Given the description of an element on the screen output the (x, y) to click on. 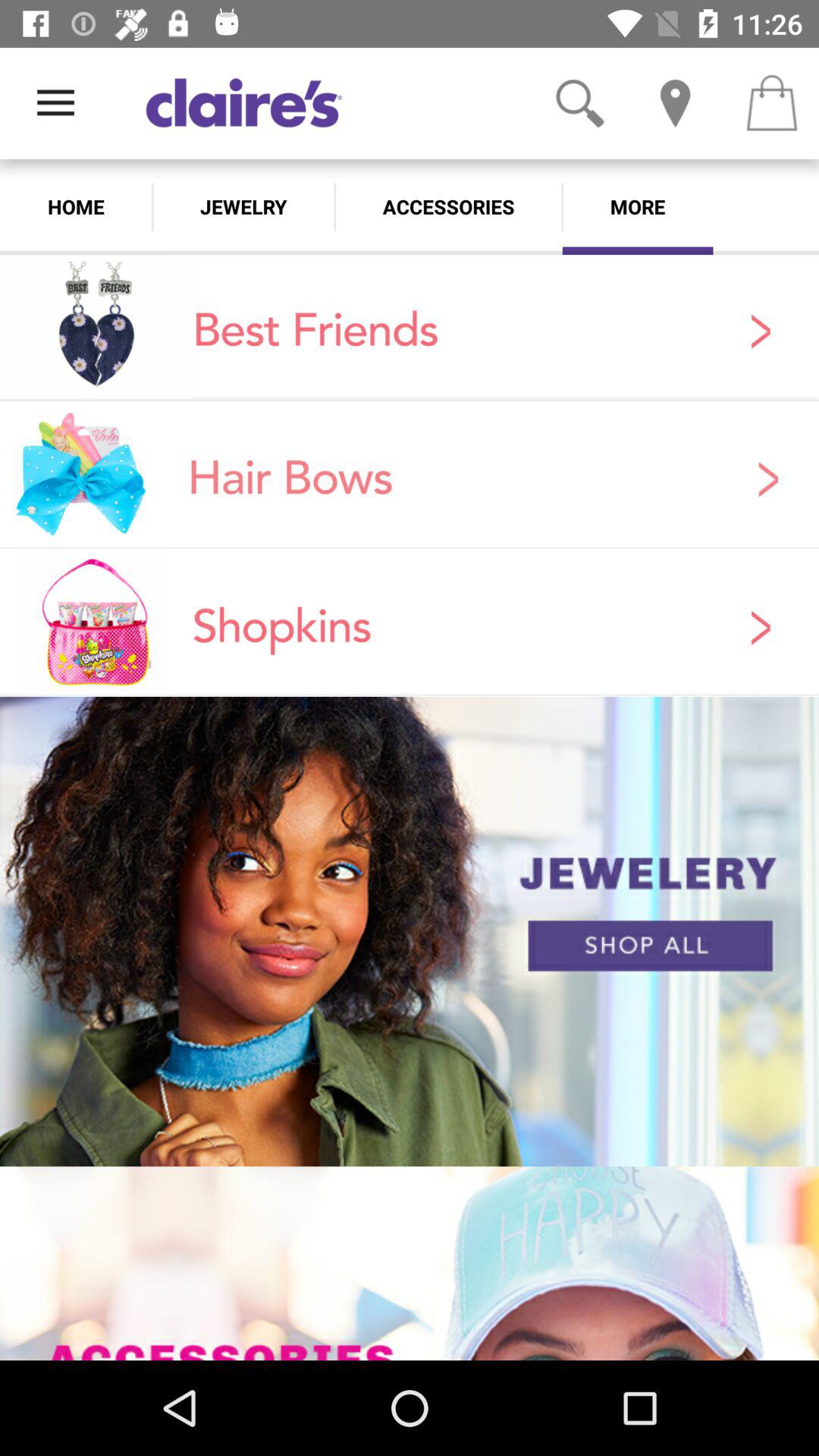
launch app to the right of accessories app (637, 206)
